Given the description of an element on the screen output the (x, y) to click on. 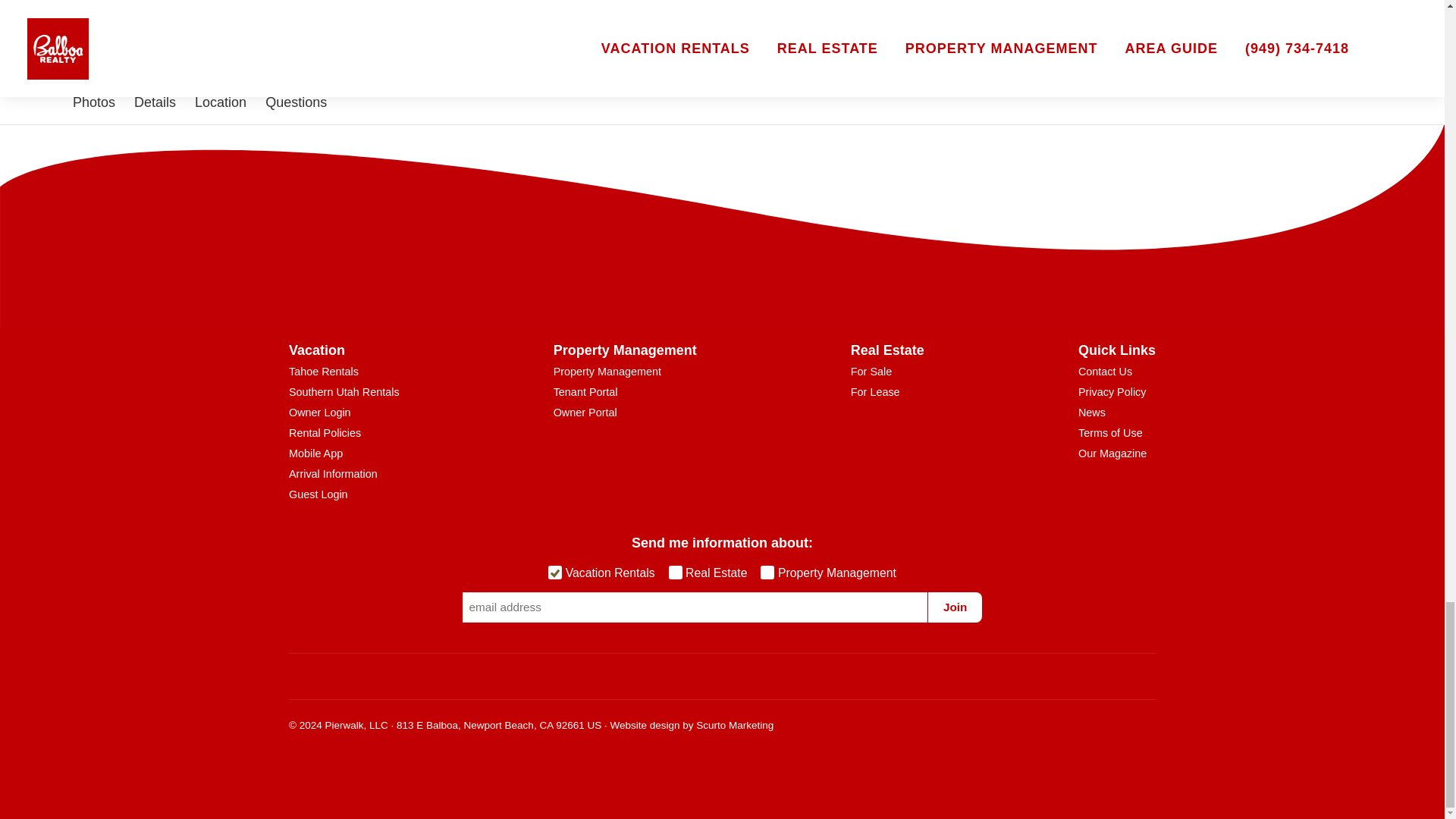
on (675, 572)
on (767, 572)
on (555, 572)
